Given the description of an element on the screen output the (x, y) to click on. 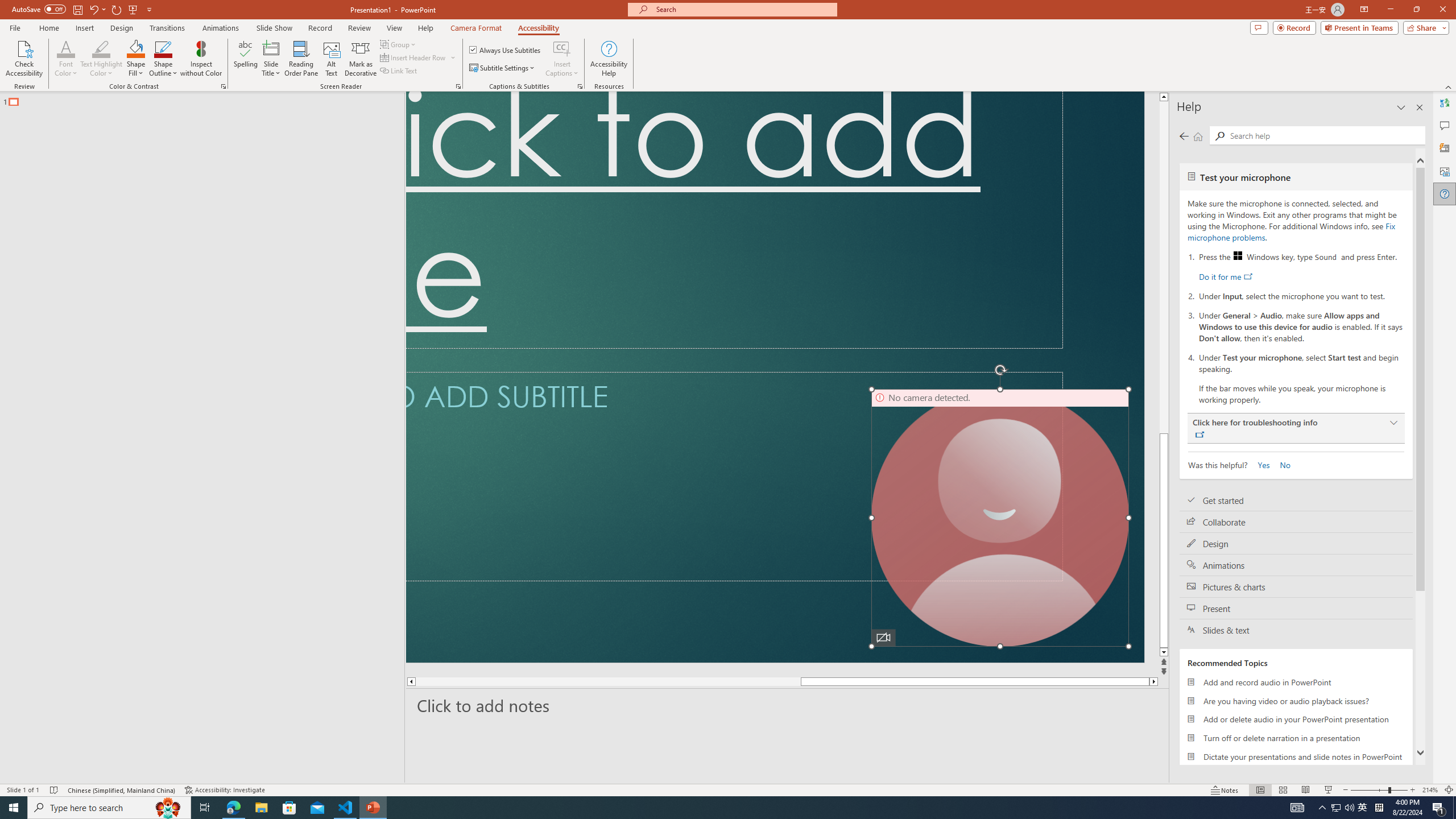
Collaborate (1295, 522)
Test your microphone (1296, 176)
Previous page (1183, 136)
No (1280, 464)
Captions & Subtitles (580, 85)
Dictate your presentations and slide notes in PowerPoint (1295, 756)
